Given the description of an element on the screen output the (x, y) to click on. 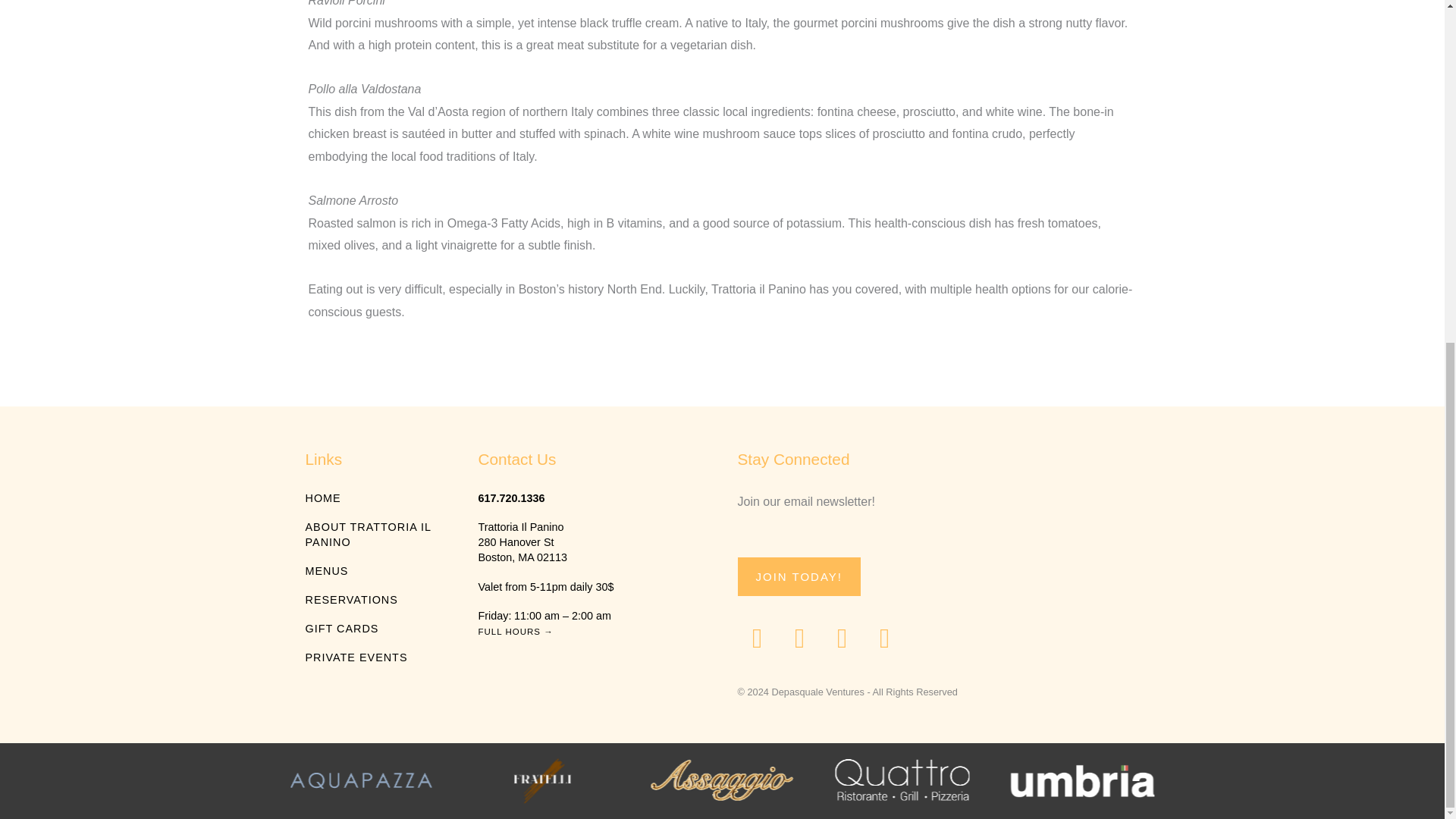
RESERVATIONS (375, 599)
MENUS (375, 570)
ABOUT TRATTORIA IL PANINO (375, 534)
HOME (375, 498)
